Given the description of an element on the screen output the (x, y) to click on. 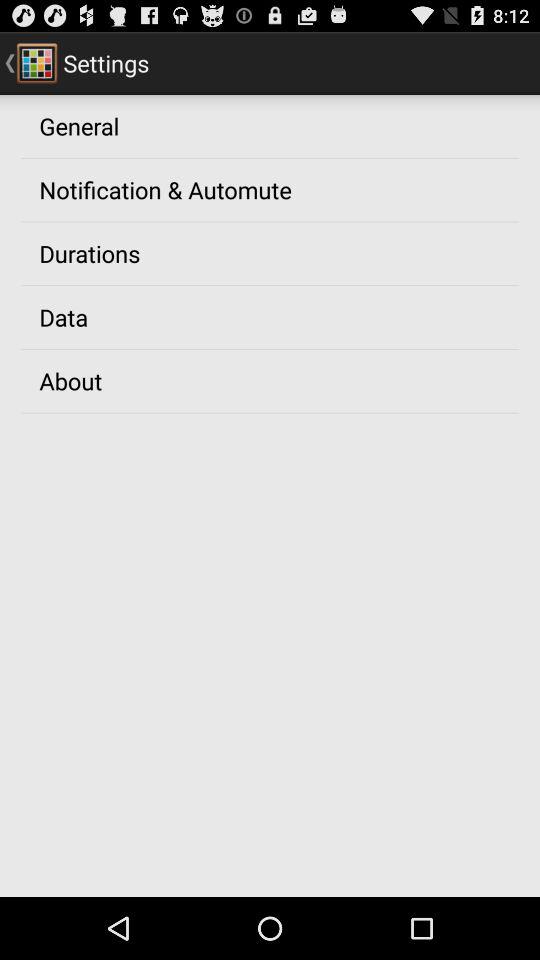
launch the general app (79, 125)
